Given the description of an element on the screen output the (x, y) to click on. 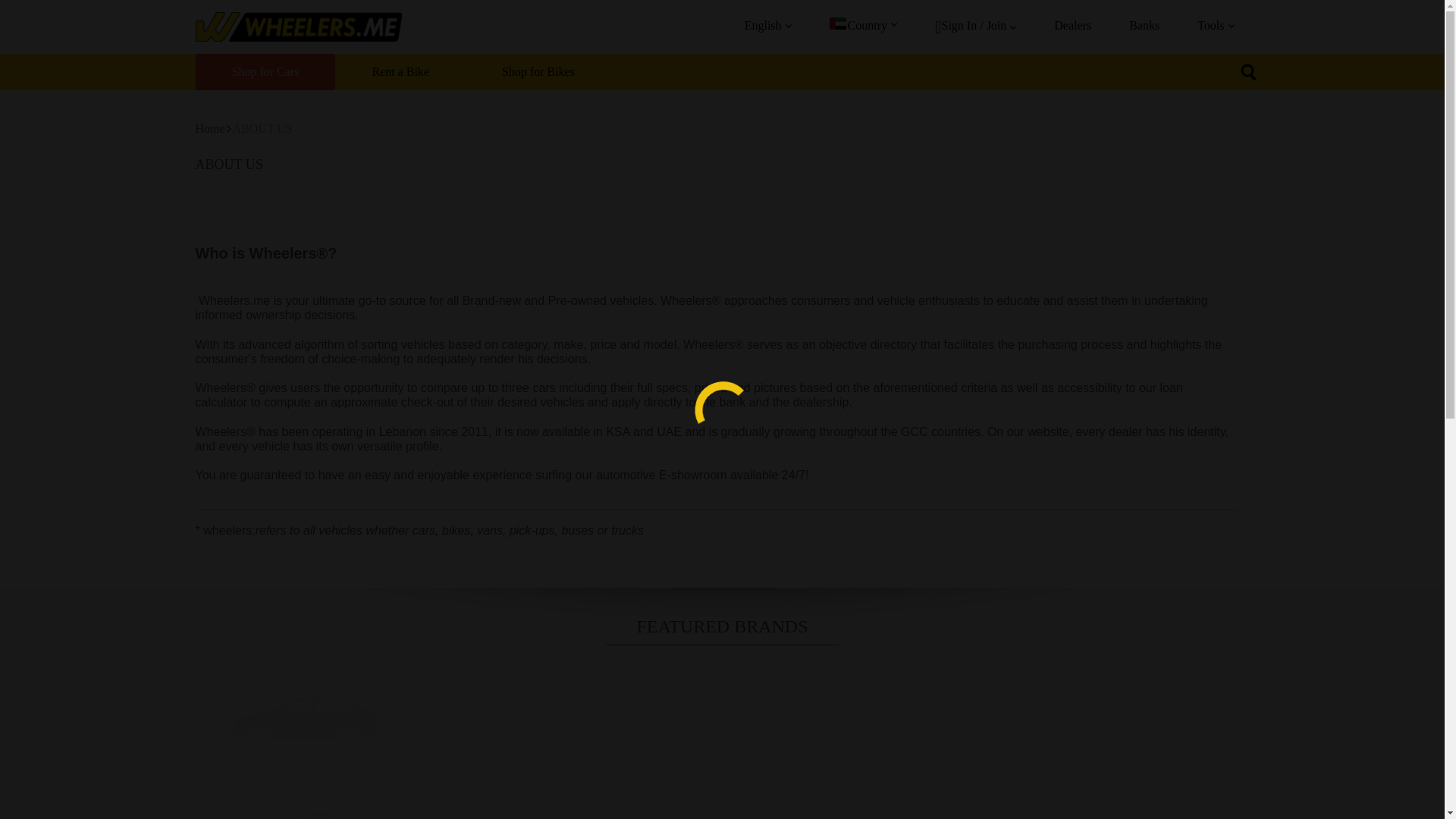
Rent a Bike (399, 72)
Home (213, 128)
Tools (1210, 24)
English (762, 24)
Dealers (1072, 24)
Country (857, 24)
Banks (1143, 24)
Shop for Bikes (538, 72)
Shop for Cars (265, 72)
Home (213, 128)
